Given the description of an element on the screen output the (x, y) to click on. 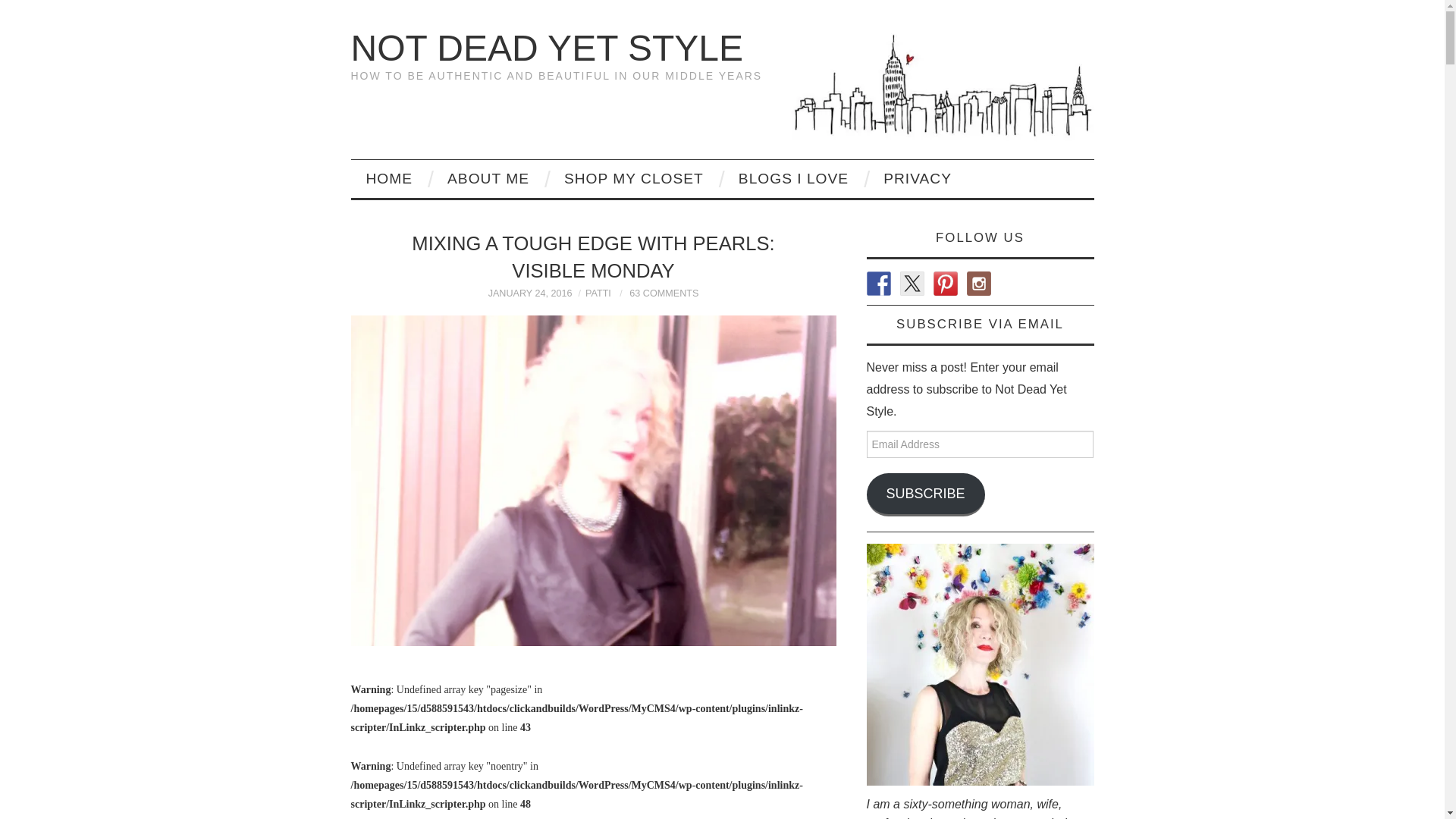
BLOGS I LOVE (793, 178)
NOT DEAD YET STYLE (546, 47)
ABOUT ME (488, 178)
JANUARY 24, 2016 (529, 293)
Not Dead Yet Style (546, 47)
SHOP MY CLOSET (633, 178)
PATTI (598, 293)
PRIVACY (916, 178)
63 COMMENTS (663, 293)
HOME (389, 178)
